Given the description of an element on the screen output the (x, y) to click on. 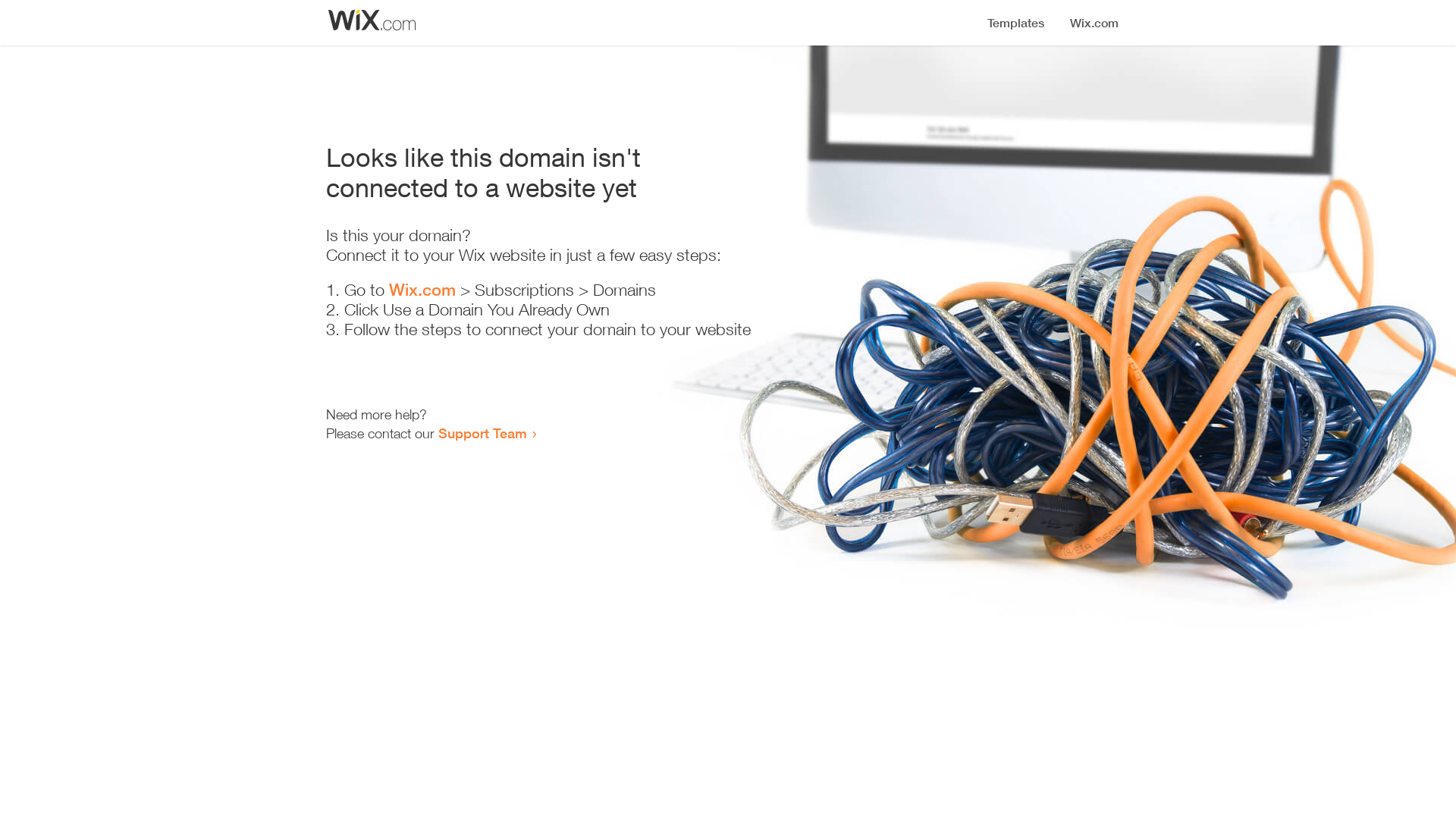
Support Team Element type: text (482, 432)
Wix.com Element type: text (422, 289)
